Given the description of an element on the screen output the (x, y) to click on. 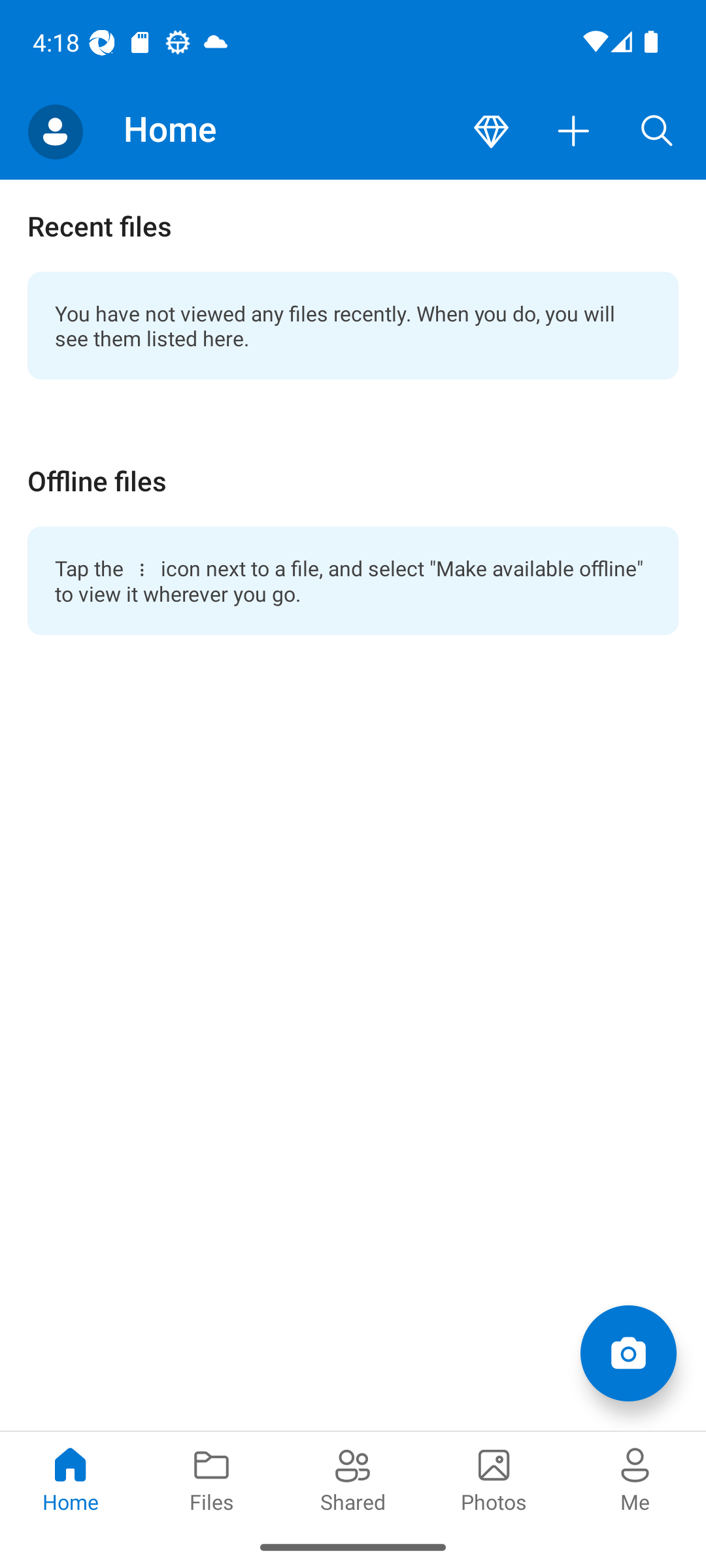
Account switcher (55, 131)
Premium button (491, 131)
More actions button (574, 131)
Search button (656, 131)
Scan (628, 1352)
Files pivot Files (211, 1478)
Shared pivot Shared (352, 1478)
Photos pivot Photos (493, 1478)
Me pivot Me (635, 1478)
